Given the description of an element on the screen output the (x, y) to click on. 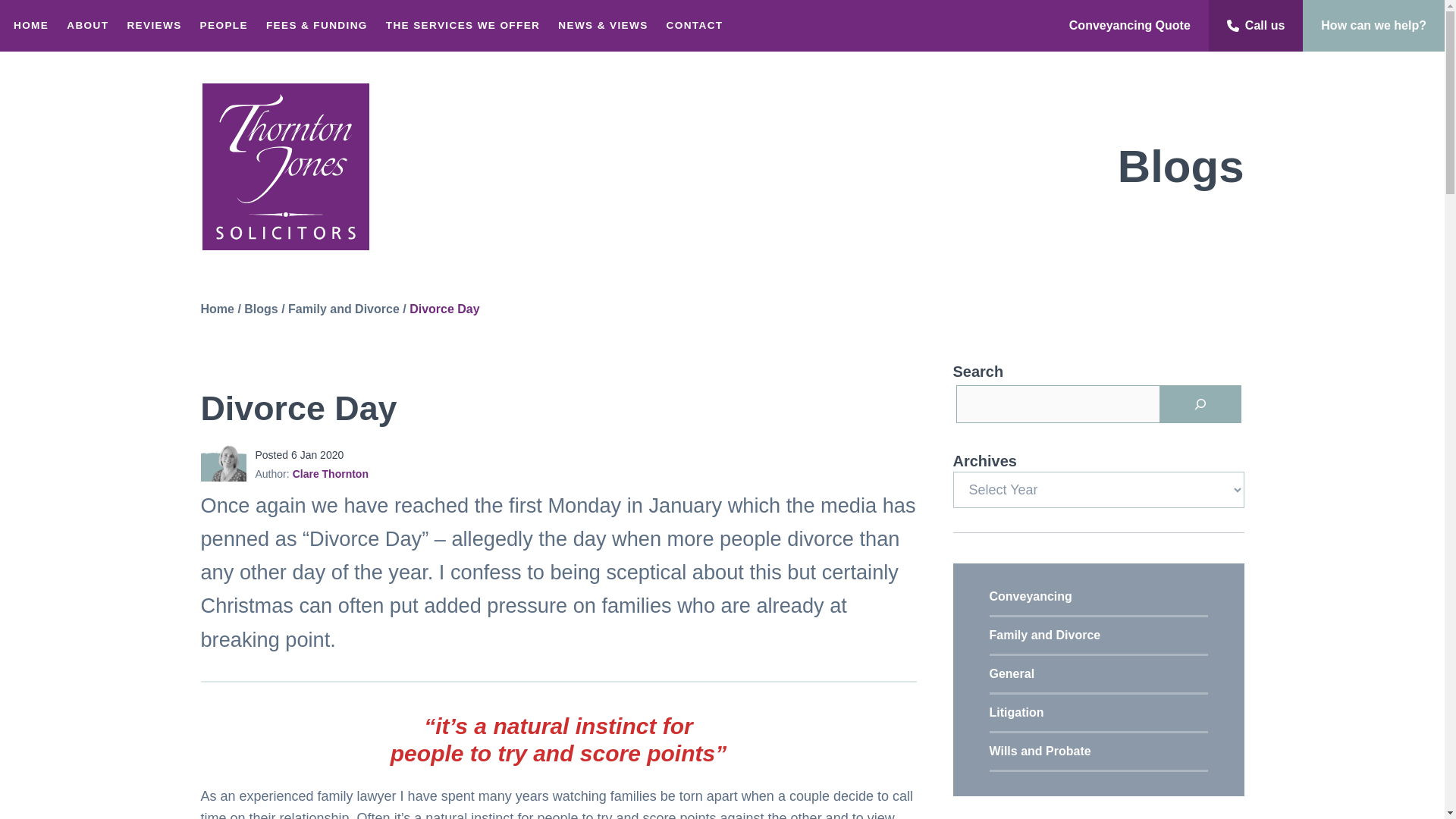
ABOUT (87, 25)
PEOPLE (223, 25)
THE SERVICES WE OFFER (463, 25)
REVIEWS (153, 25)
HOME (31, 25)
